Given the description of an element on the screen output the (x, y) to click on. 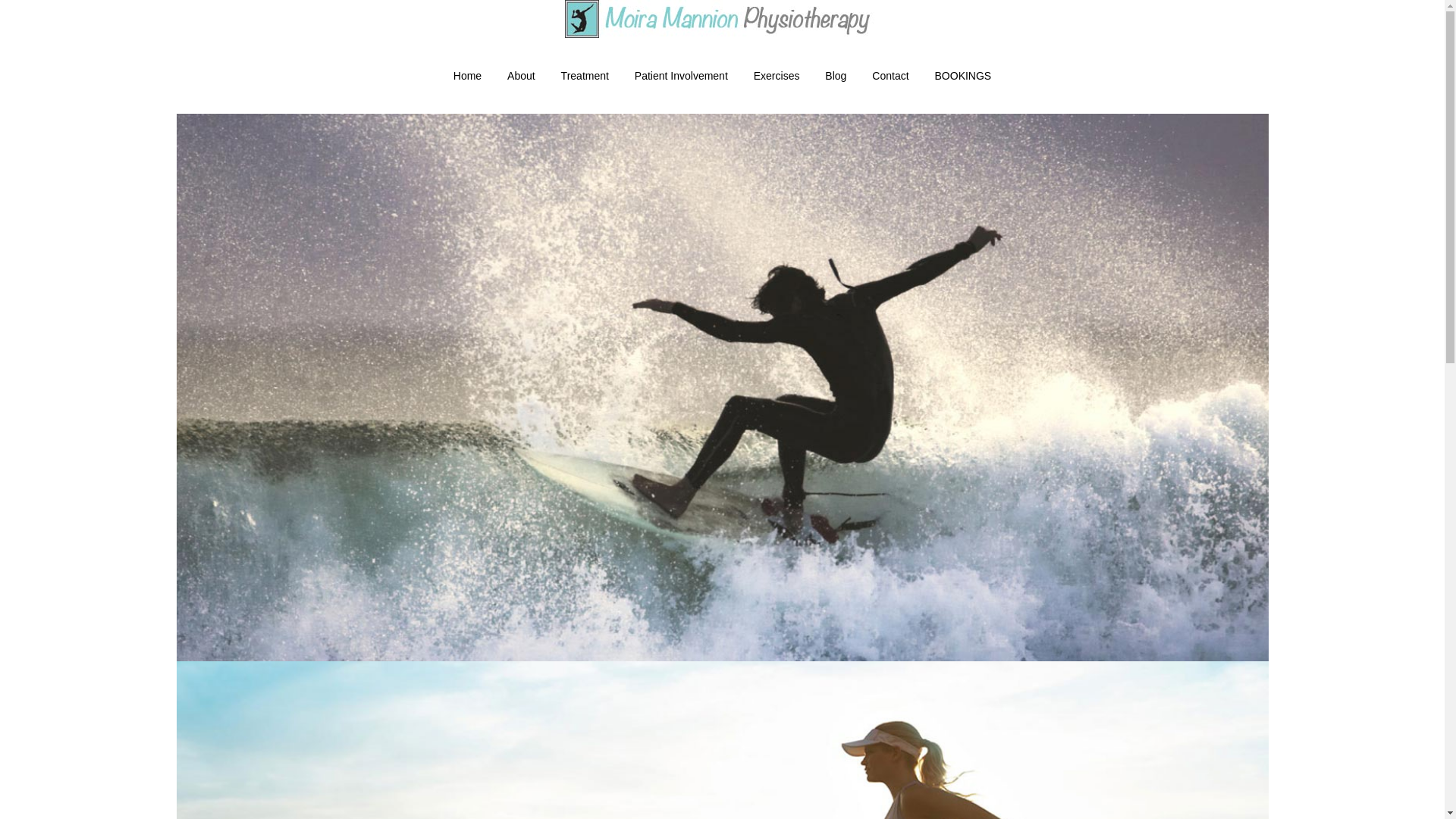
Contact Element type: text (890, 75)
Exercises Element type: text (776, 75)
Treatment Element type: text (584, 75)
Home Element type: text (467, 75)
Patient Involvement Element type: text (680, 75)
About Element type: text (521, 75)
BOOKINGS Element type: text (963, 75)
Blog Element type: text (835, 75)
